Given the description of an element on the screen output the (x, y) to click on. 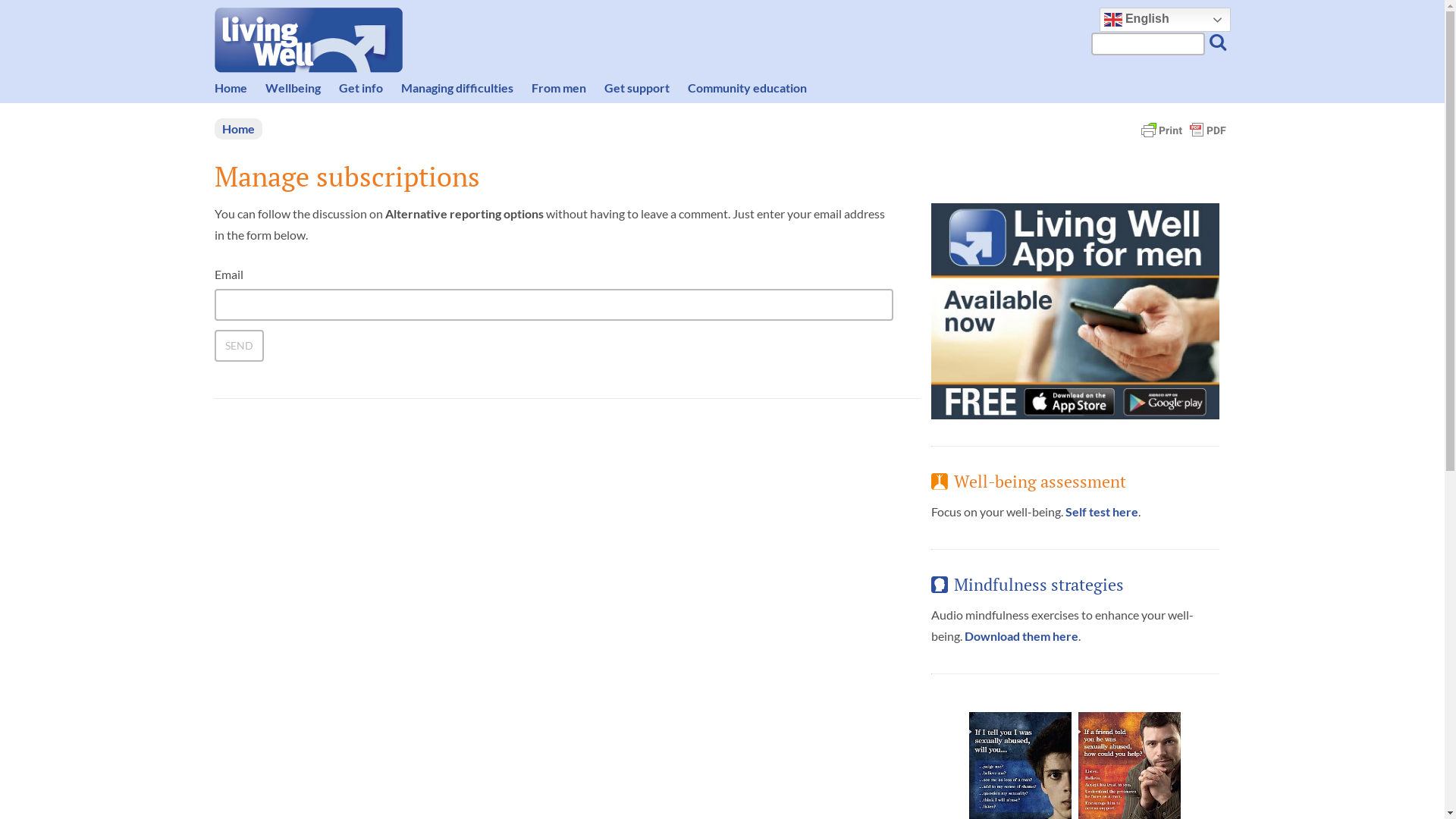
Printer Friendly, PDF & Email Element type: hover (1182, 128)
Self test here Element type: text (1100, 511)
Home Element type: text (232, 87)
Send Element type: text (238, 345)
Get support Element type: text (638, 87)
Download them here Element type: text (1021, 635)
Well-being assessment Element type: text (1039, 482)
Living Well Element type: hover (307, 39)
From men Element type: text (559, 87)
Community education Element type: text (748, 87)
Managing difficulties Element type: text (458, 87)
Mindfulness strategies Element type: text (1038, 586)
Wellbeing Element type: text (295, 87)
Get info Element type: text (362, 87)
Search Element type: text (12, 12)
Home Element type: text (237, 128)
English Element type: text (1164, 19)
